Given the description of an element on the screen output the (x, y) to click on. 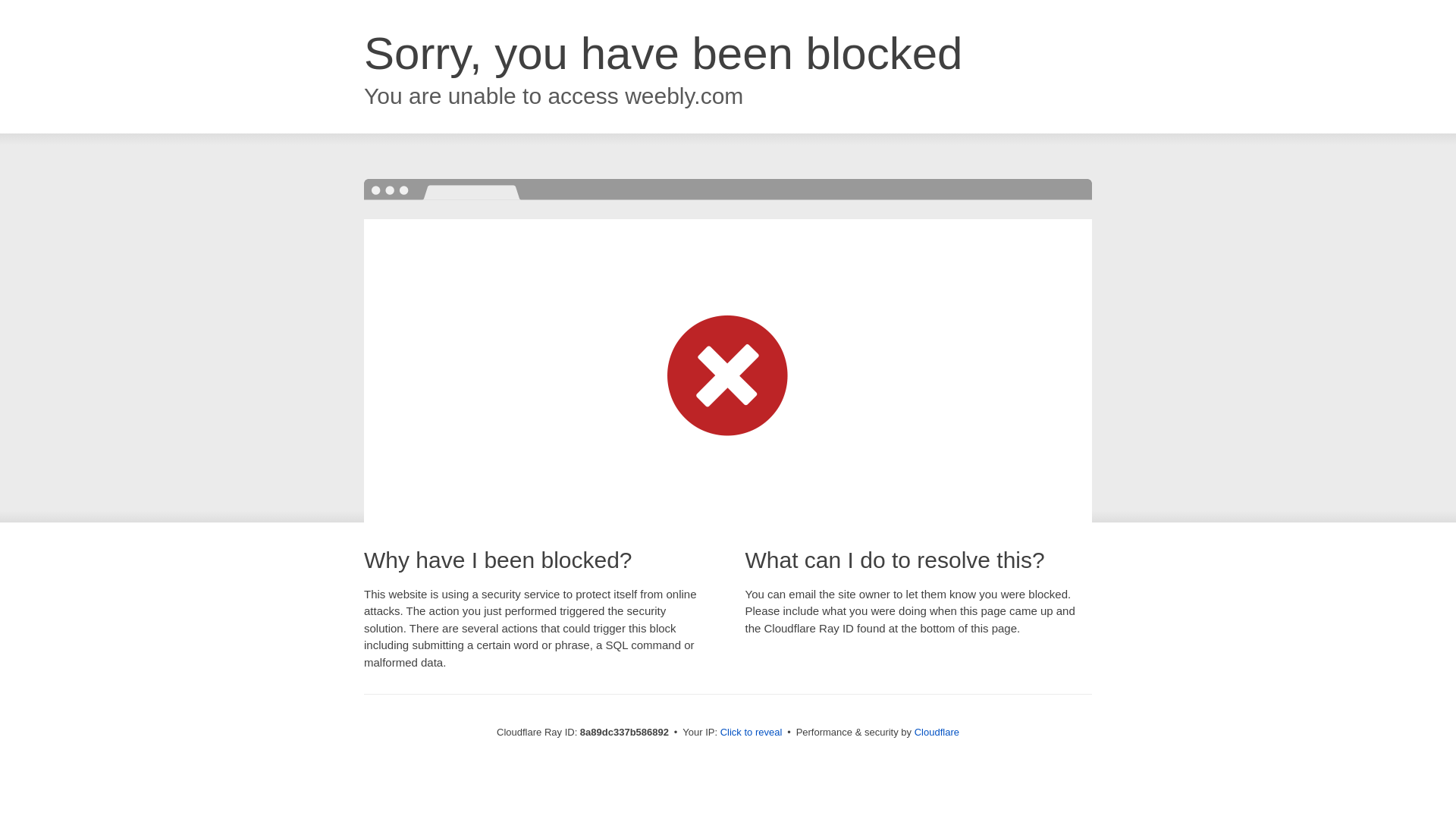
Cloudflare (936, 731)
Click to reveal (751, 732)
